Given the description of an element on the screen output the (x, y) to click on. 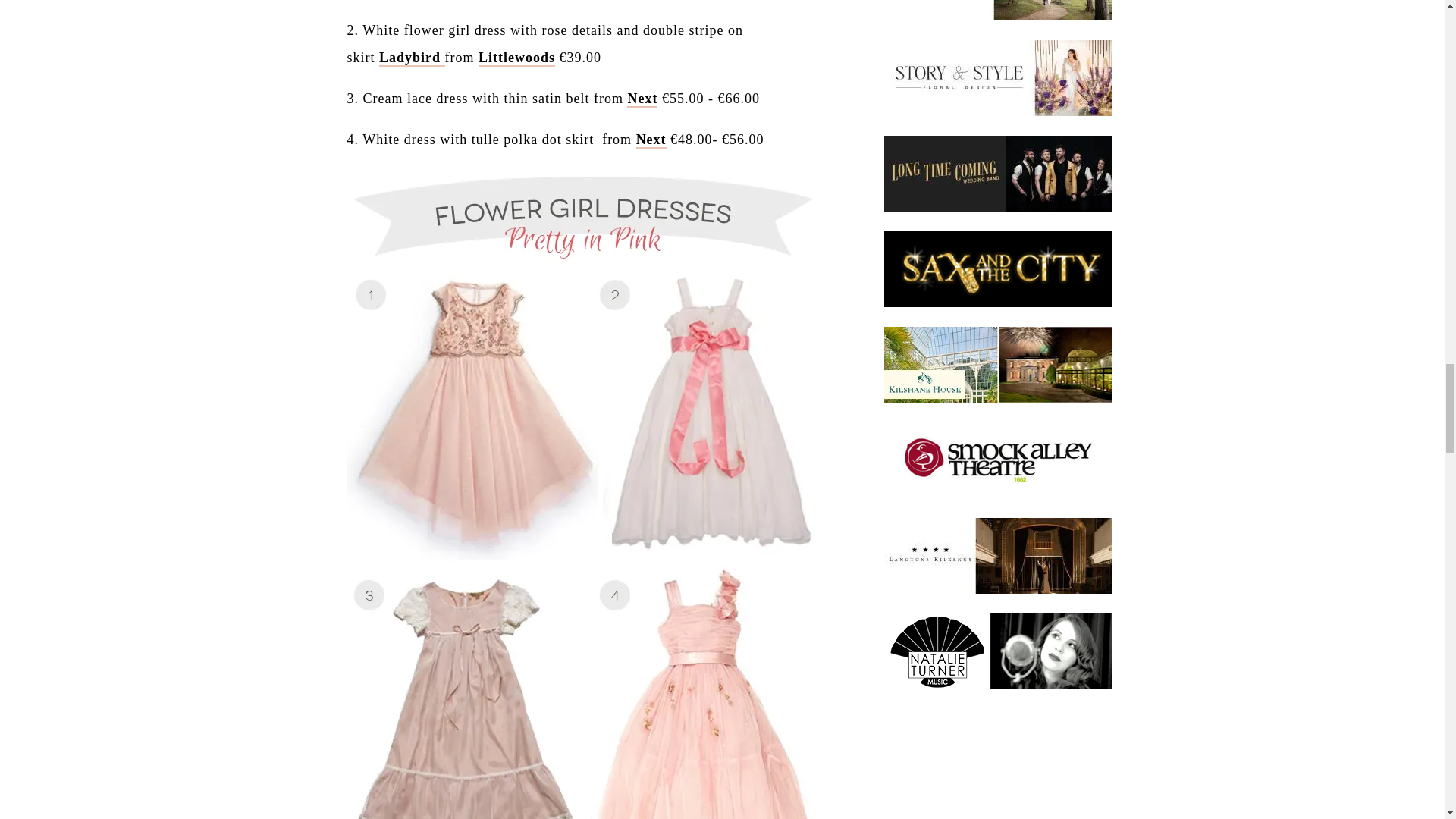
LACE FLOWERGIRL DRESS (642, 99)
flowergirl dresses (651, 140)
white flower girl dress (411, 58)
white flowergirl dress (516, 58)
